Given the description of an element on the screen output the (x, y) to click on. 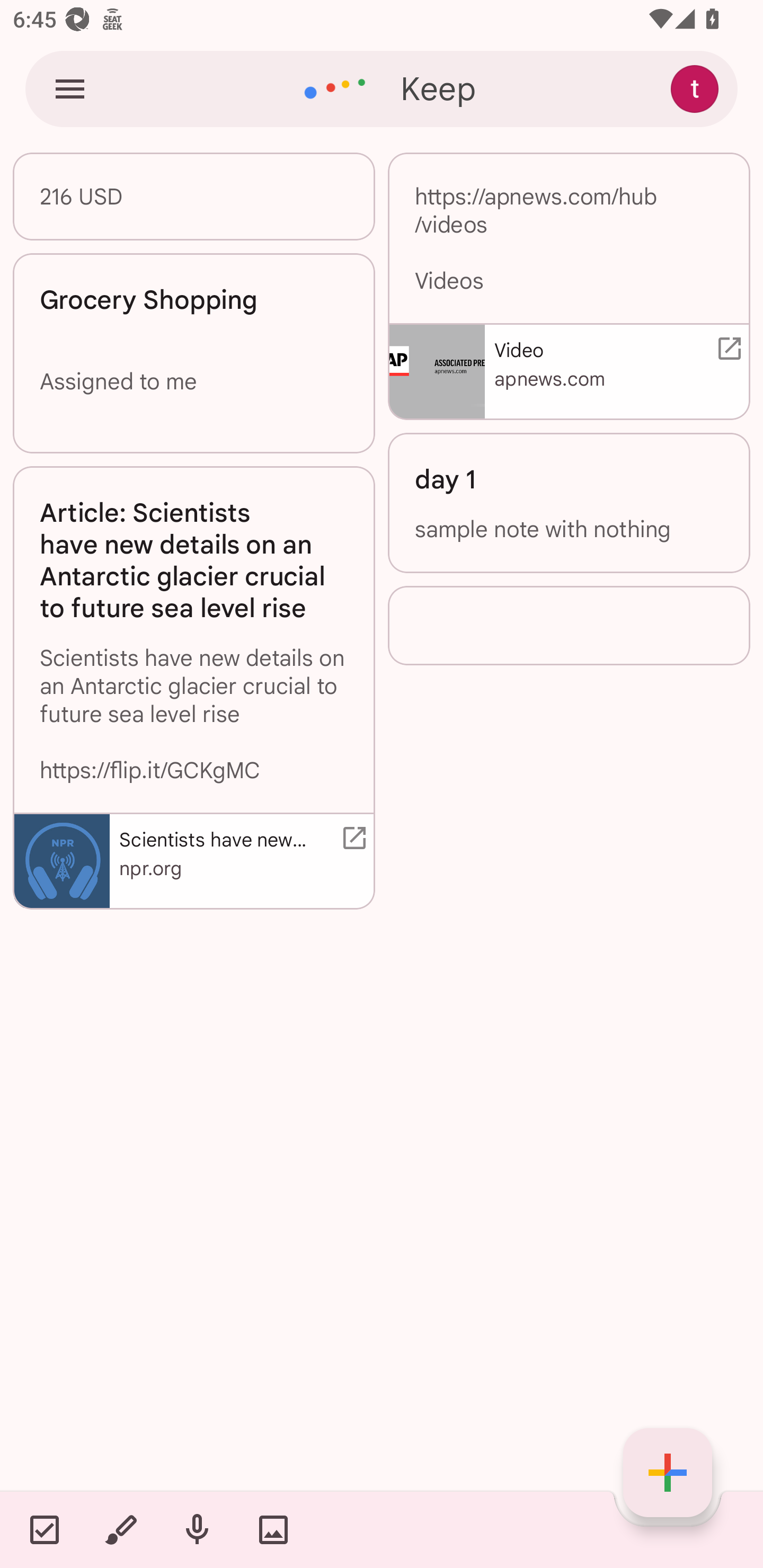
Open navigation drawer (70, 88)
Account and settings. (696, 88)
216 USD.  216 USD (193, 195)
Link preview popout (726, 348)
.  (568, 625)
Link preview popout (350, 837)
New text note (667, 1472)
New list (44, 1529)
New drawing note (120, 1529)
New audio note (196, 1529)
New photo note (273, 1529)
